Given the description of an element on the screen output the (x, y) to click on. 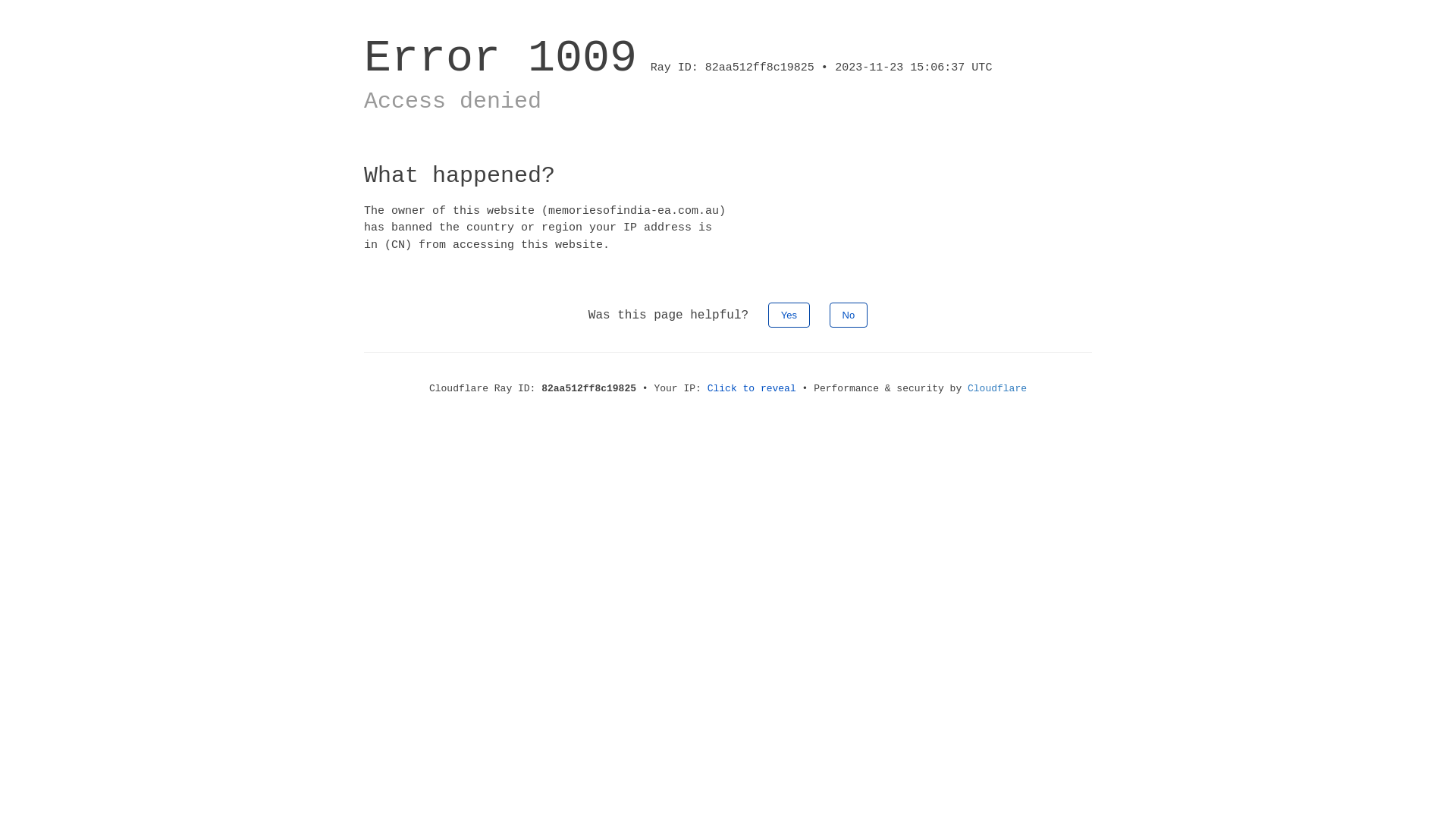
No Element type: text (848, 314)
Click to reveal Element type: text (751, 388)
Yes Element type: text (788, 314)
Cloudflare Element type: text (996, 388)
